Given the description of an element on the screen output the (x, y) to click on. 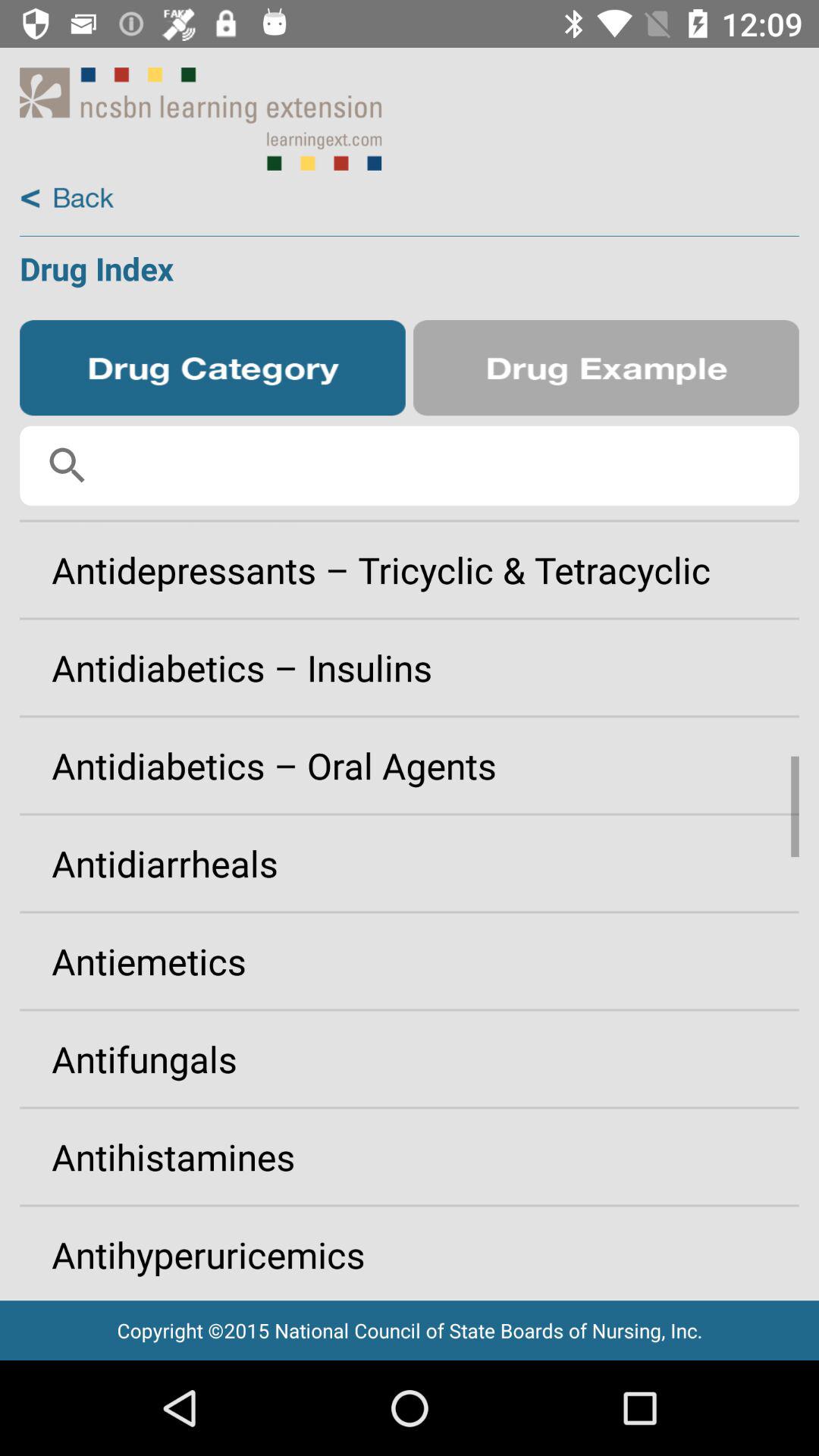
press the icon above the antihistamines item (409, 1058)
